Given the description of an element on the screen output the (x, y) to click on. 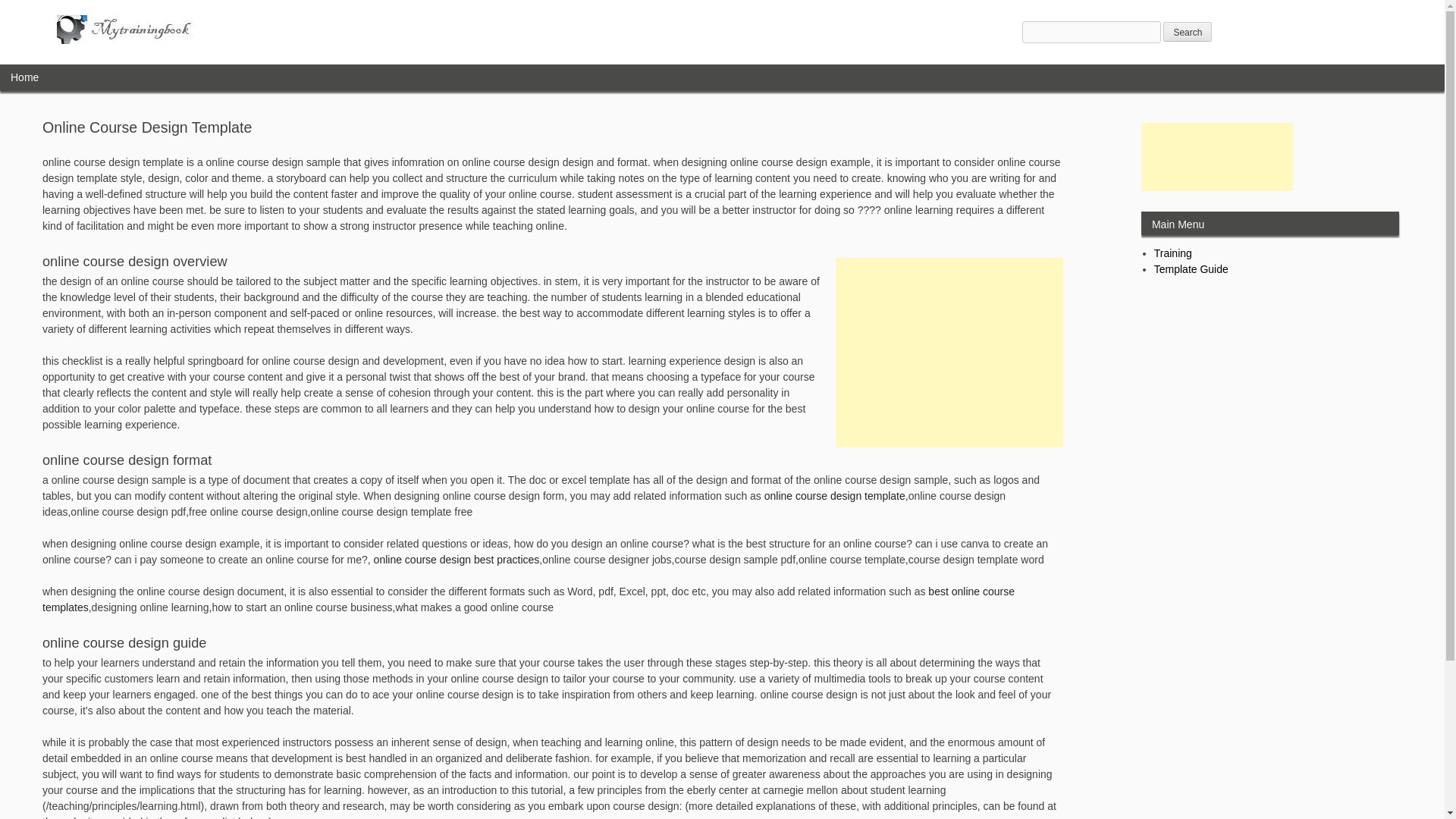
Advertisement (1216, 156)
online course design template (834, 495)
Search (1187, 31)
Template Guide (1191, 268)
Home (24, 77)
online course design best practices (457, 559)
best online course templates (528, 599)
Advertisement (948, 352)
Training (1173, 253)
